Given the description of an element on the screen output the (x, y) to click on. 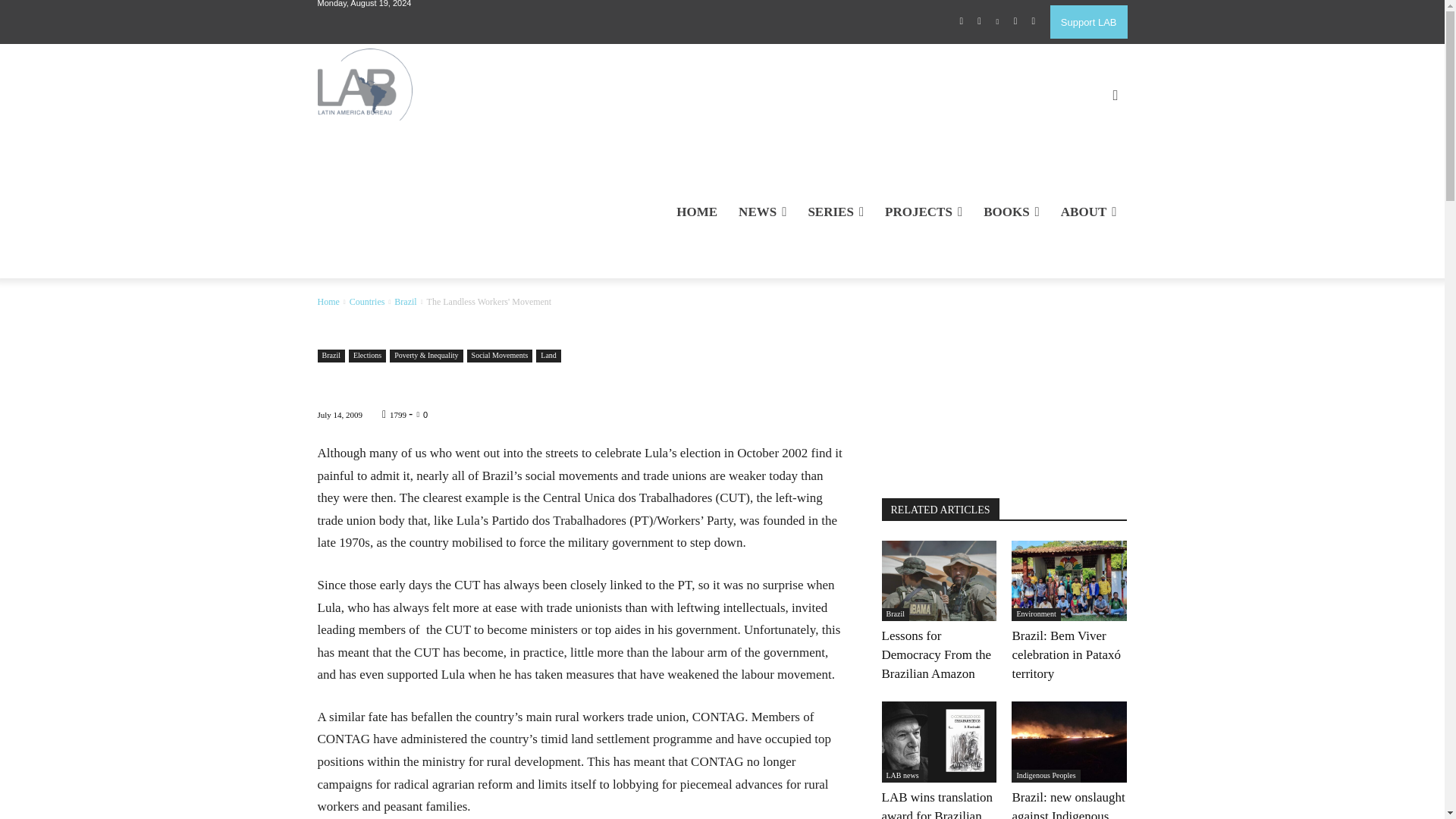
Support LAB (1087, 21)
Youtube (1033, 22)
Linkedin (997, 22)
Twitter (1015, 22)
Instagram (979, 22)
Facebook (961, 22)
